Given the description of an element on the screen output the (x, y) to click on. 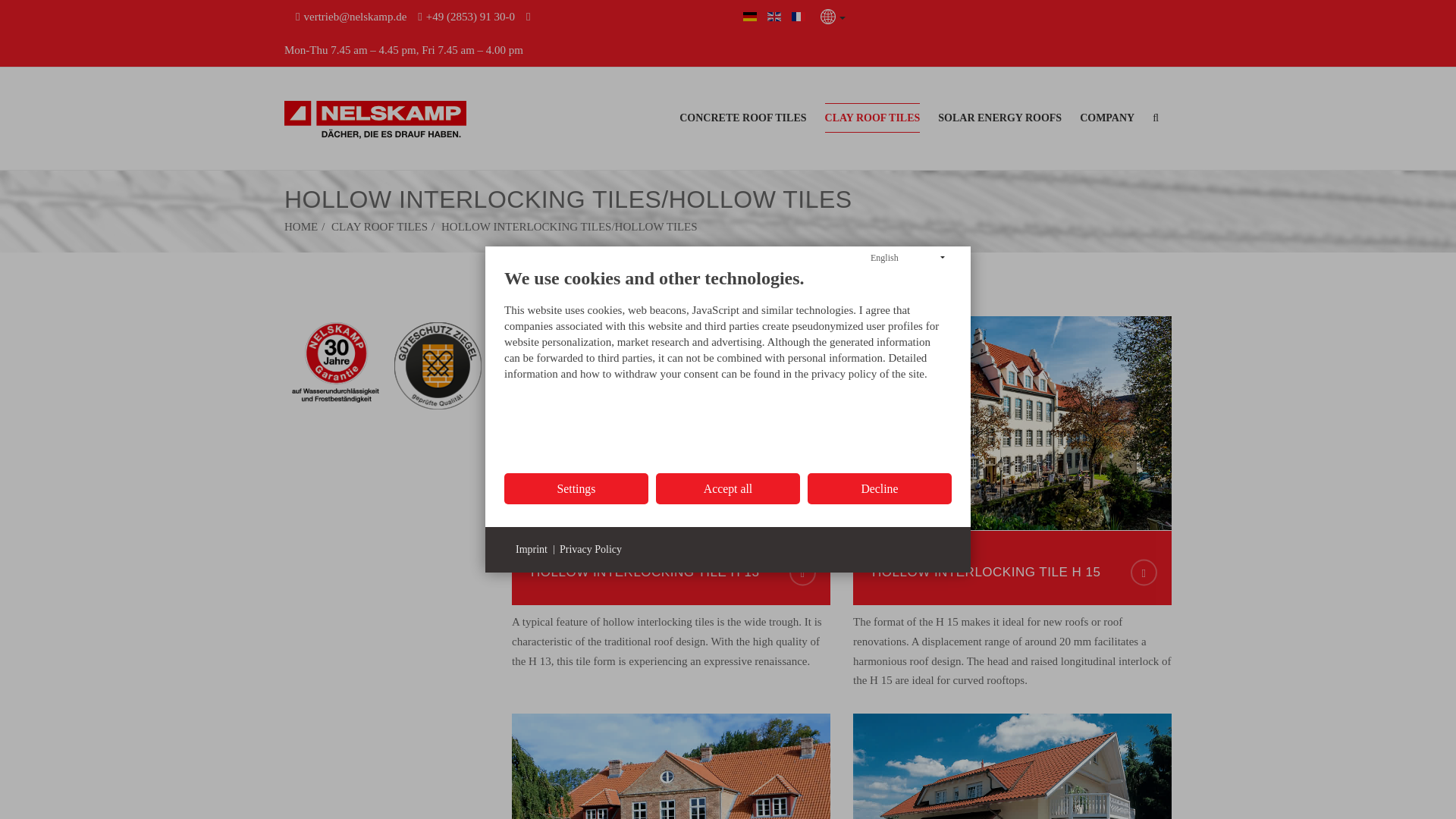
Nelskamp (374, 118)
Hollow Interlocking Tile H 13 (670, 572)
Hollow Interlocking Tile H 15 (1012, 572)
